Given the description of an element on the screen output the (x, y) to click on. 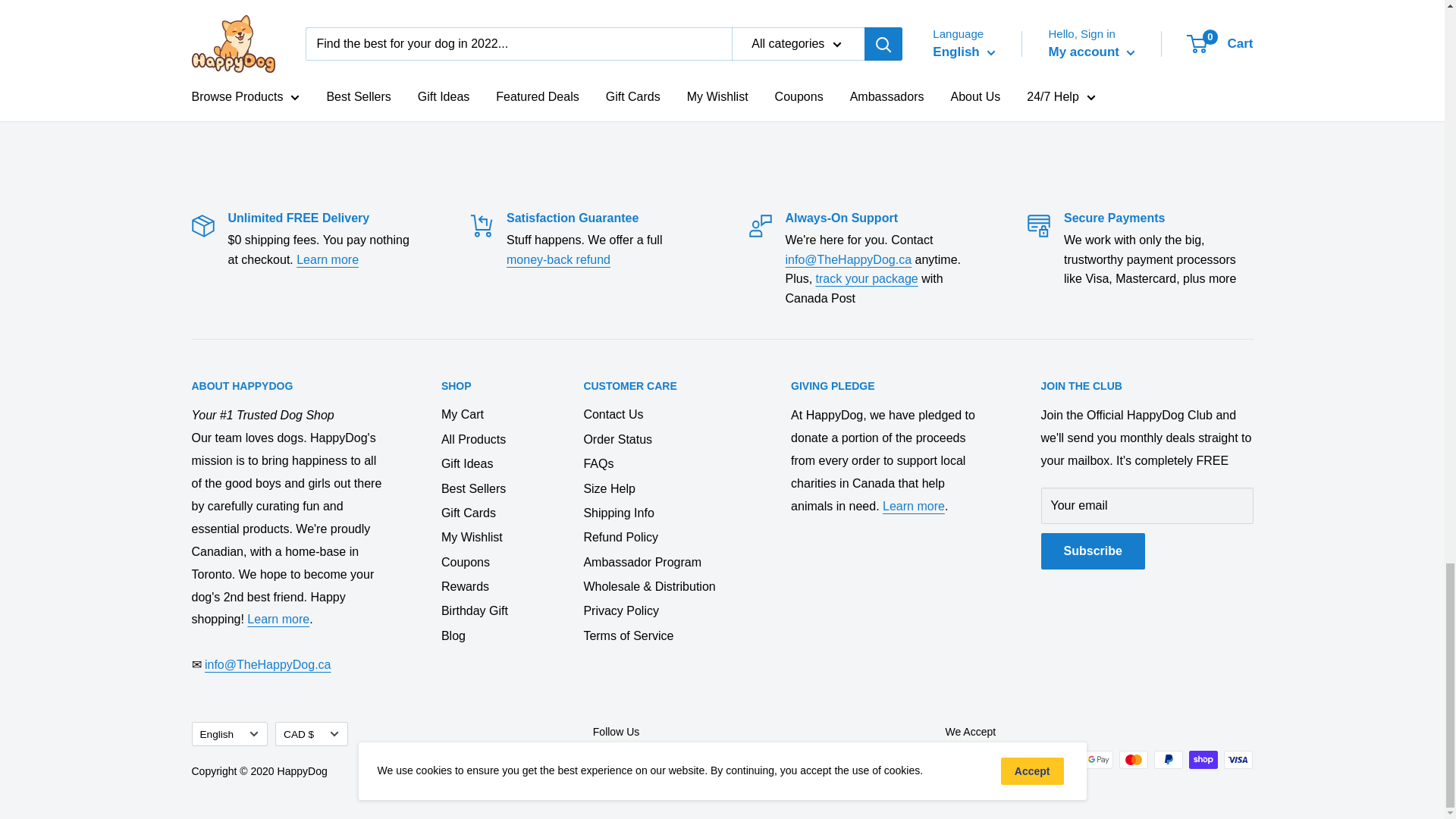
Giving Pledge (913, 505)
Refund Policy (558, 259)
Shipping Policy (327, 259)
About Us (277, 618)
